Given the description of an element on the screen output the (x, y) to click on. 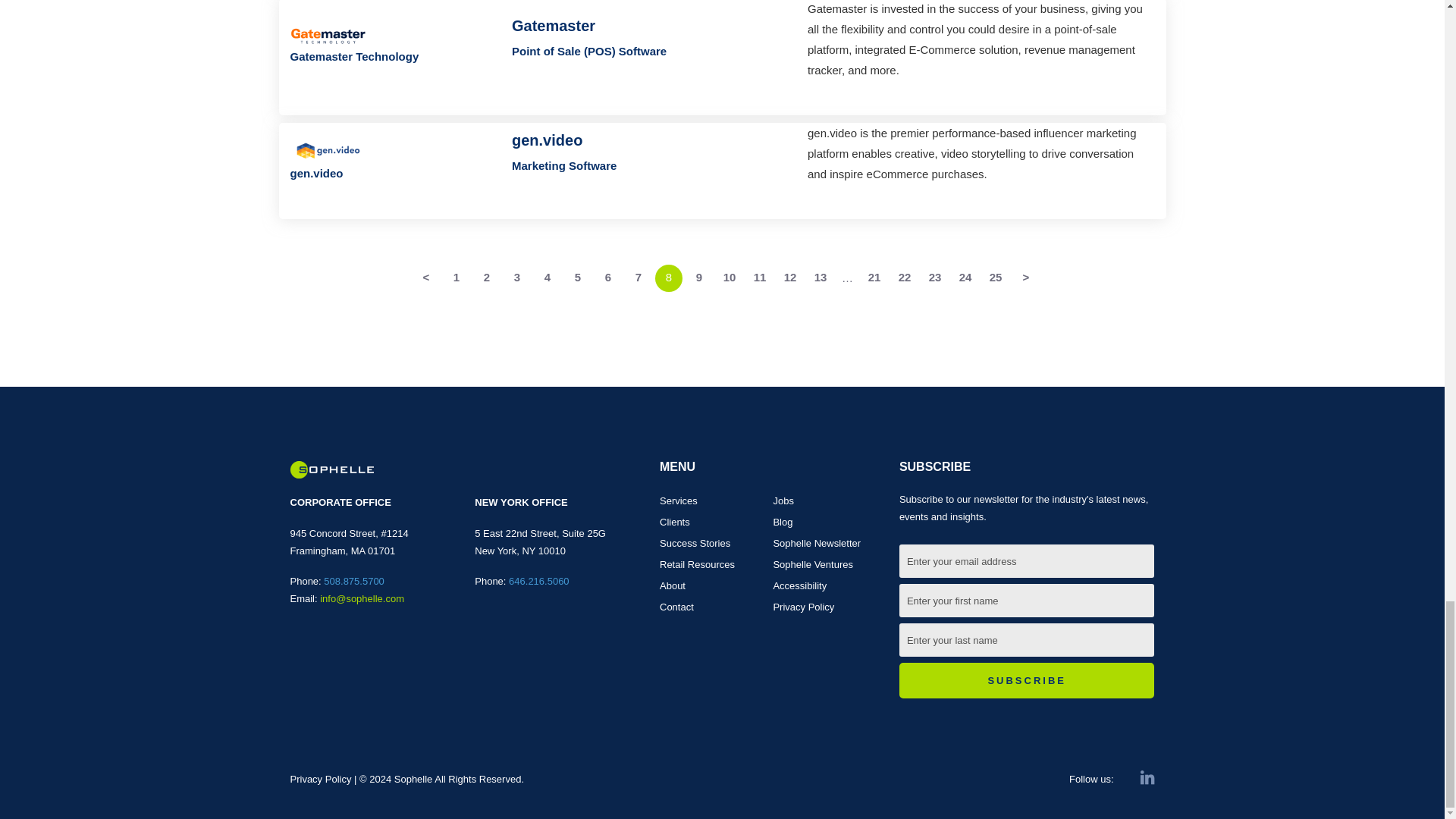
Subscribe (1027, 680)
